Given the description of an element on the screen output the (x, y) to click on. 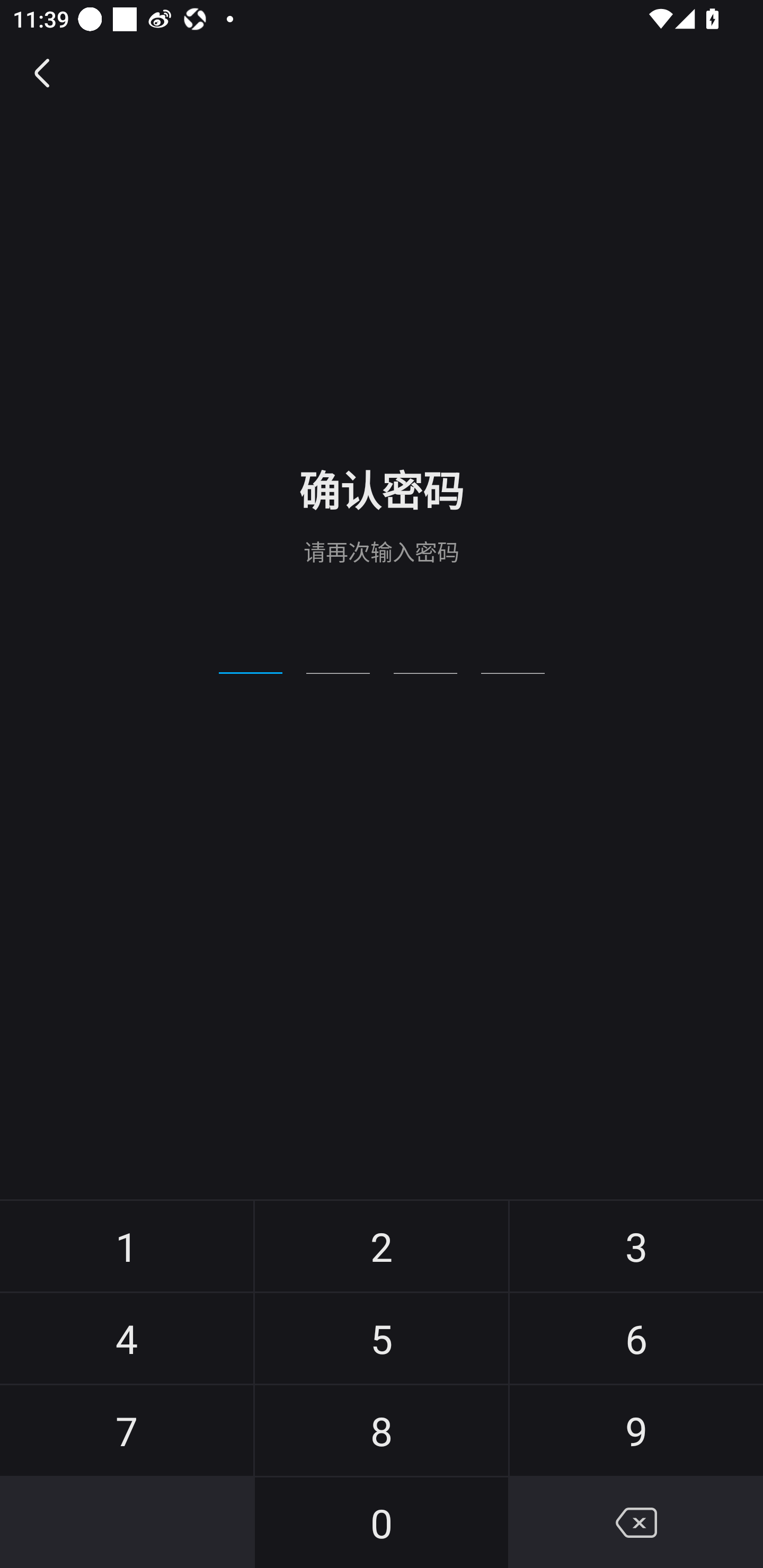
返回 (43, 72)
1 (126, 1246)
2 (381, 1246)
3 (636, 1246)
4 (126, 1337)
5 (381, 1337)
6 (636, 1337)
7 (126, 1429)
8 (381, 1429)
9 (636, 1429)
0 (381, 1522)
